Given the description of an element on the screen output the (x, y) to click on. 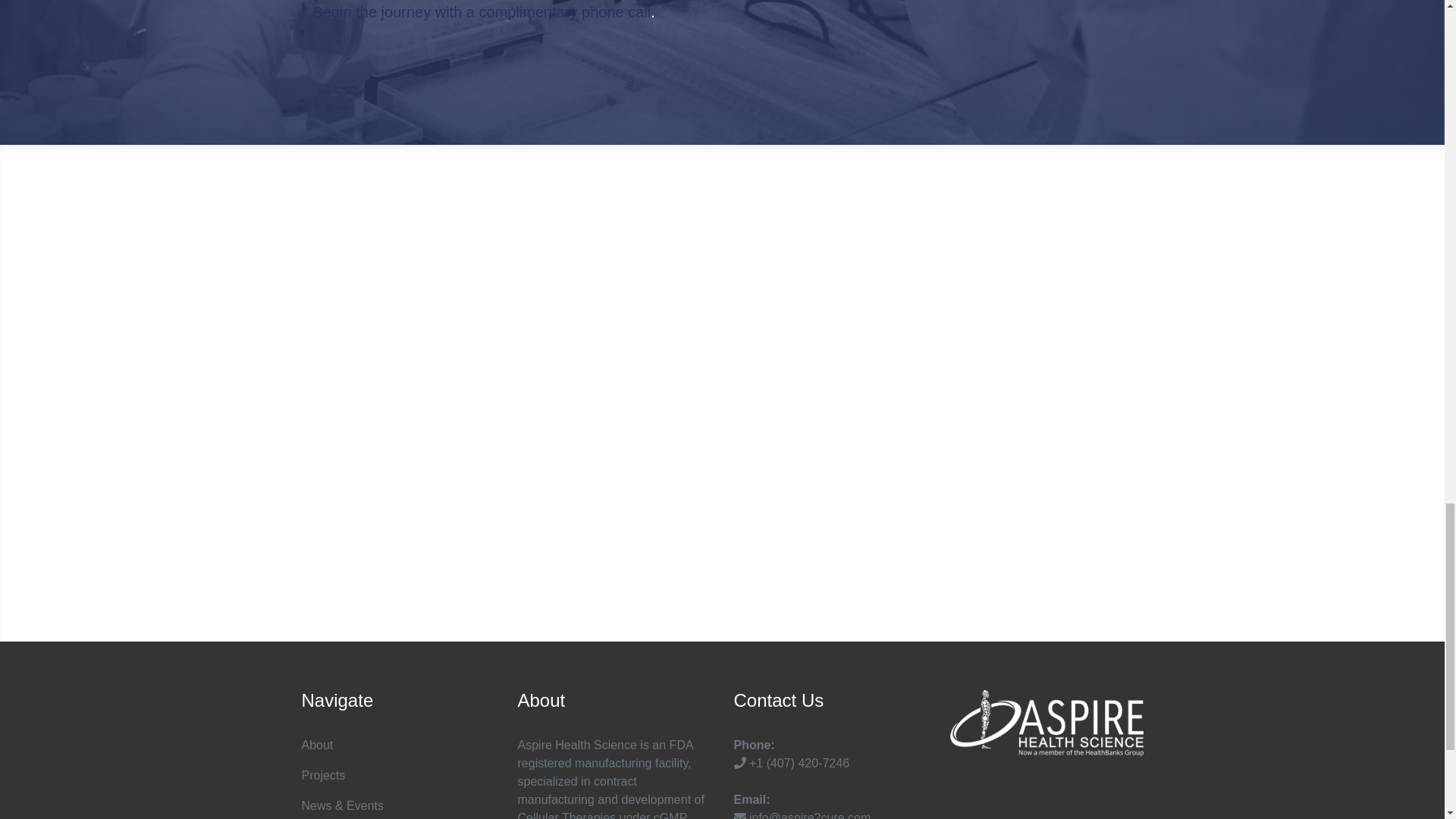
About (317, 744)
Send (1107, 522)
Begin the journey with a complimentary phone call (481, 12)
Projects (323, 775)
